Given the description of an element on the screen output the (x, y) to click on. 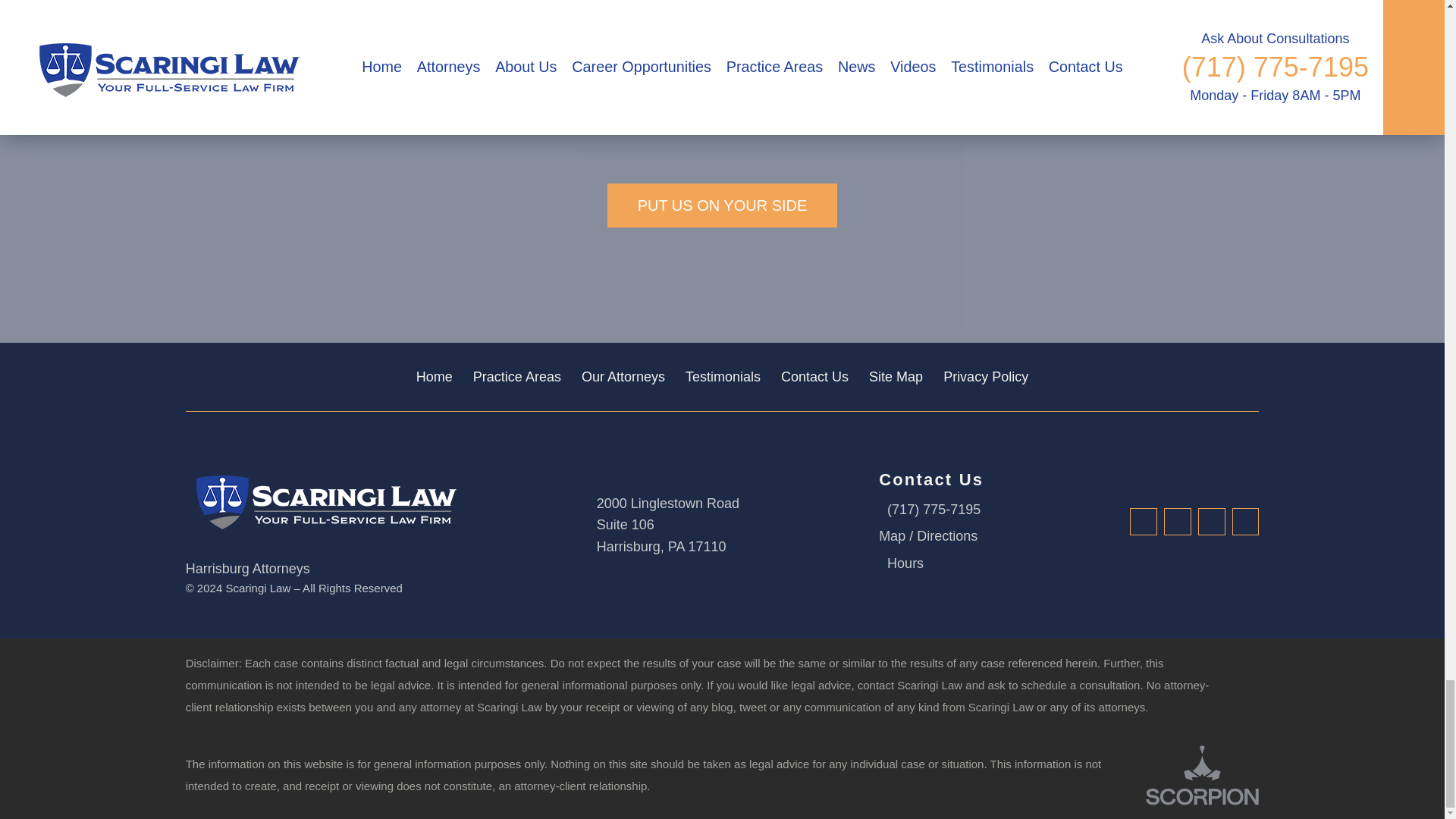
Scorpion Legal Internet Marketing (1202, 775)
Scaringi Law (321, 499)
